Given the description of an element on the screen output the (x, y) to click on. 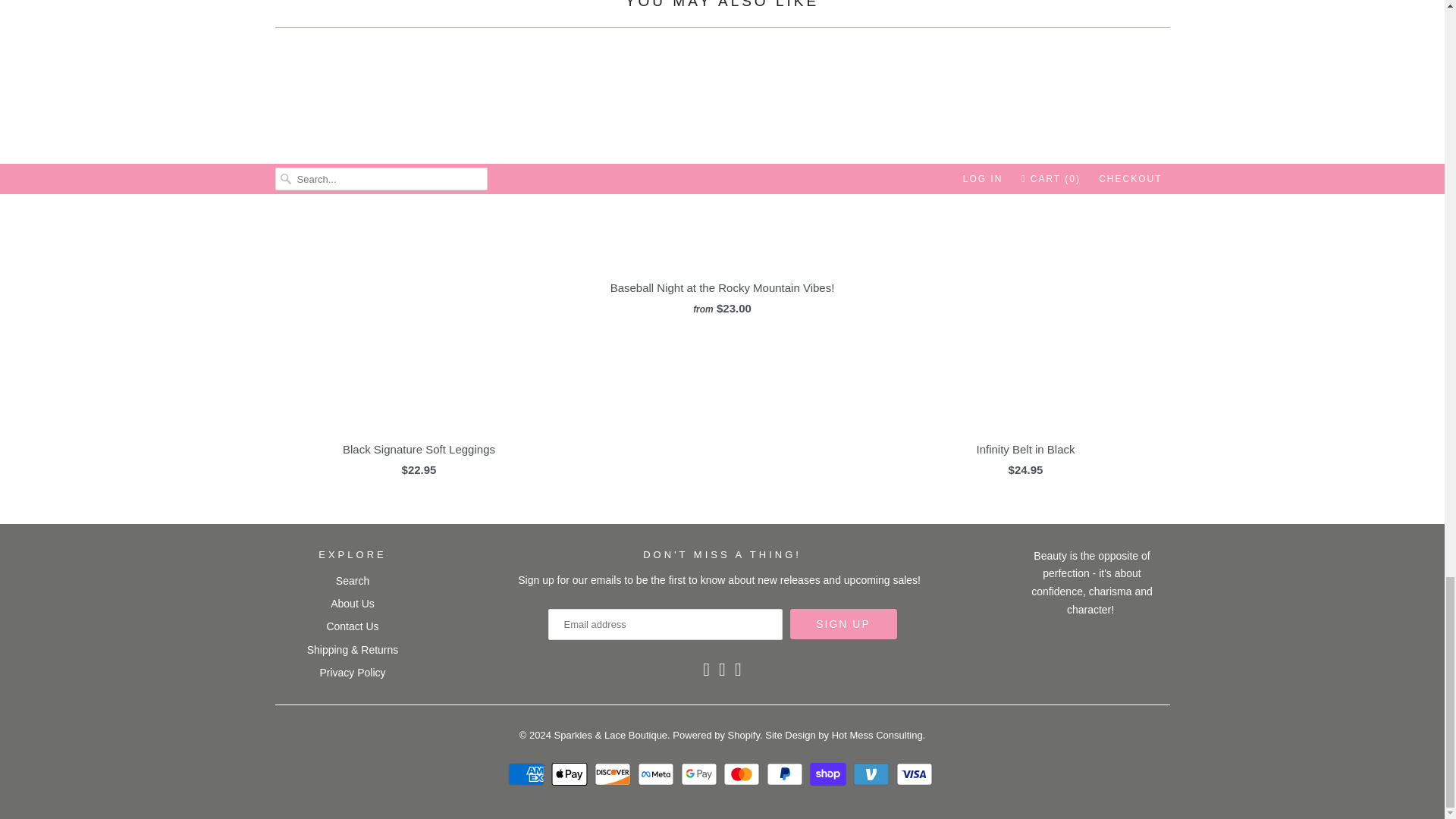
Visa (916, 773)
Discover (614, 773)
PayPal (786, 773)
Venmo (873, 773)
Shop Pay (829, 773)
Sign Up (843, 624)
Mastercard (742, 773)
Meta Pay (657, 773)
American Express (528, 773)
Apple Pay (571, 773)
Google Pay (700, 773)
